Given the description of an element on the screen output the (x, y) to click on. 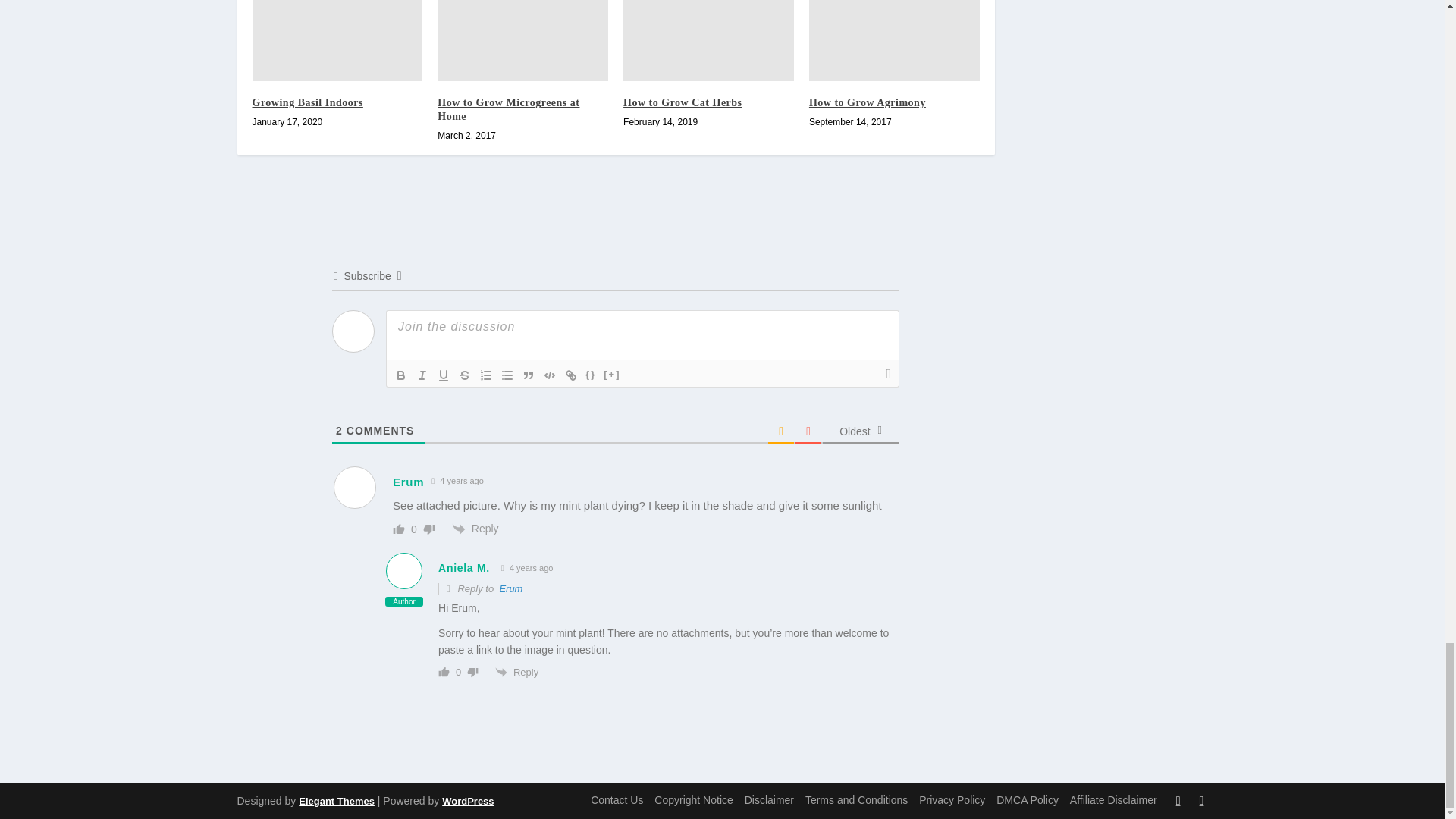
How to Grow Cat Herbs (708, 40)
Growing Basil Indoors (336, 40)
How to Grow Microgreens at Home (523, 40)
How to Grow Agrimony (894, 40)
